Given the description of an element on the screen output the (x, y) to click on. 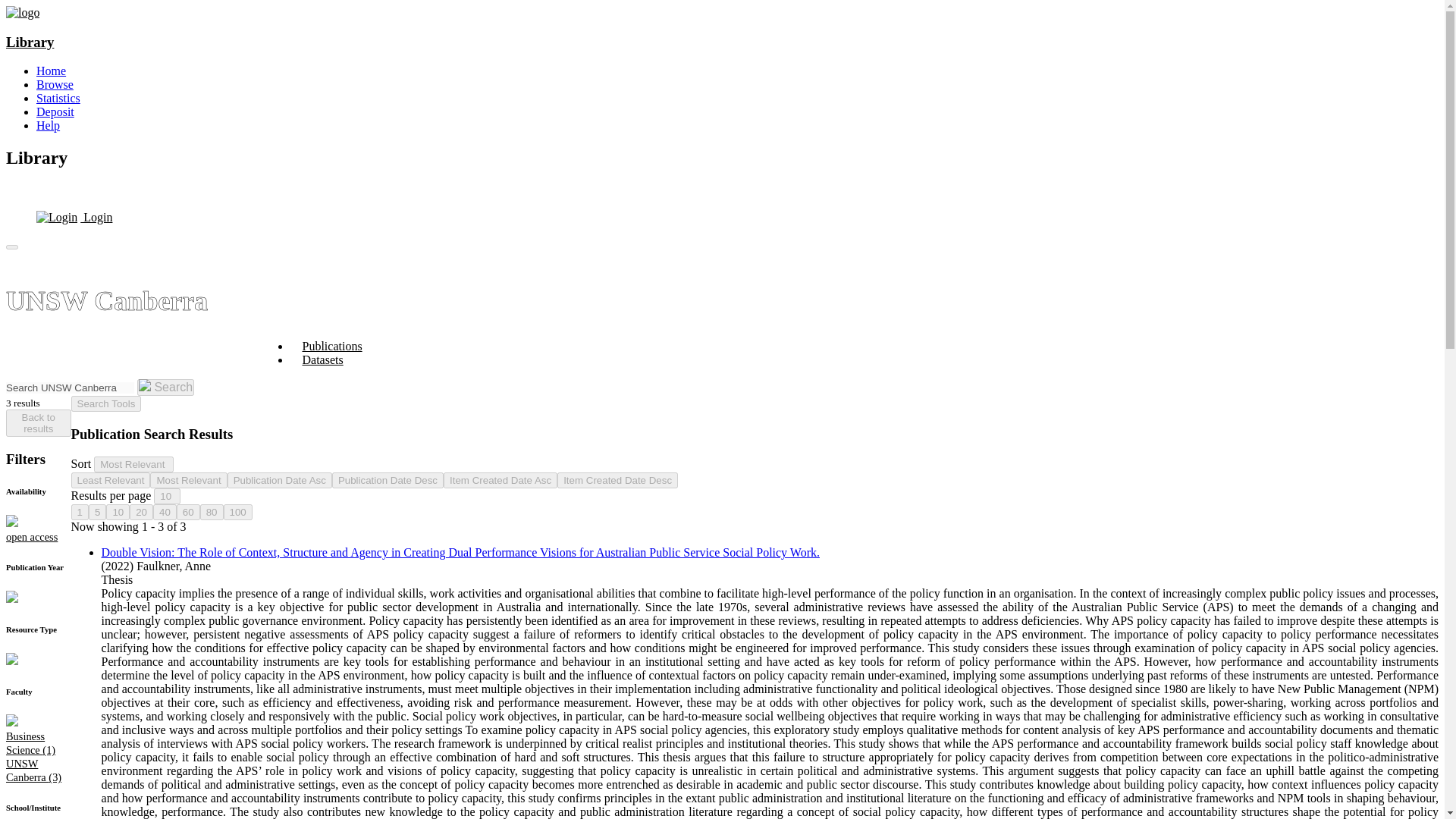
Back to results (38, 422)
open access (38, 536)
Least Relevant (111, 480)
Login (74, 216)
Results per page (167, 496)
Most Relevant (133, 464)
Expand filter (11, 598)
Datasets (322, 359)
Publication Date Desc (387, 480)
Help (47, 124)
Search (164, 387)
5 (97, 512)
1 (79, 512)
Browse (55, 83)
Home (50, 70)
